Given the description of an element on the screen output the (x, y) to click on. 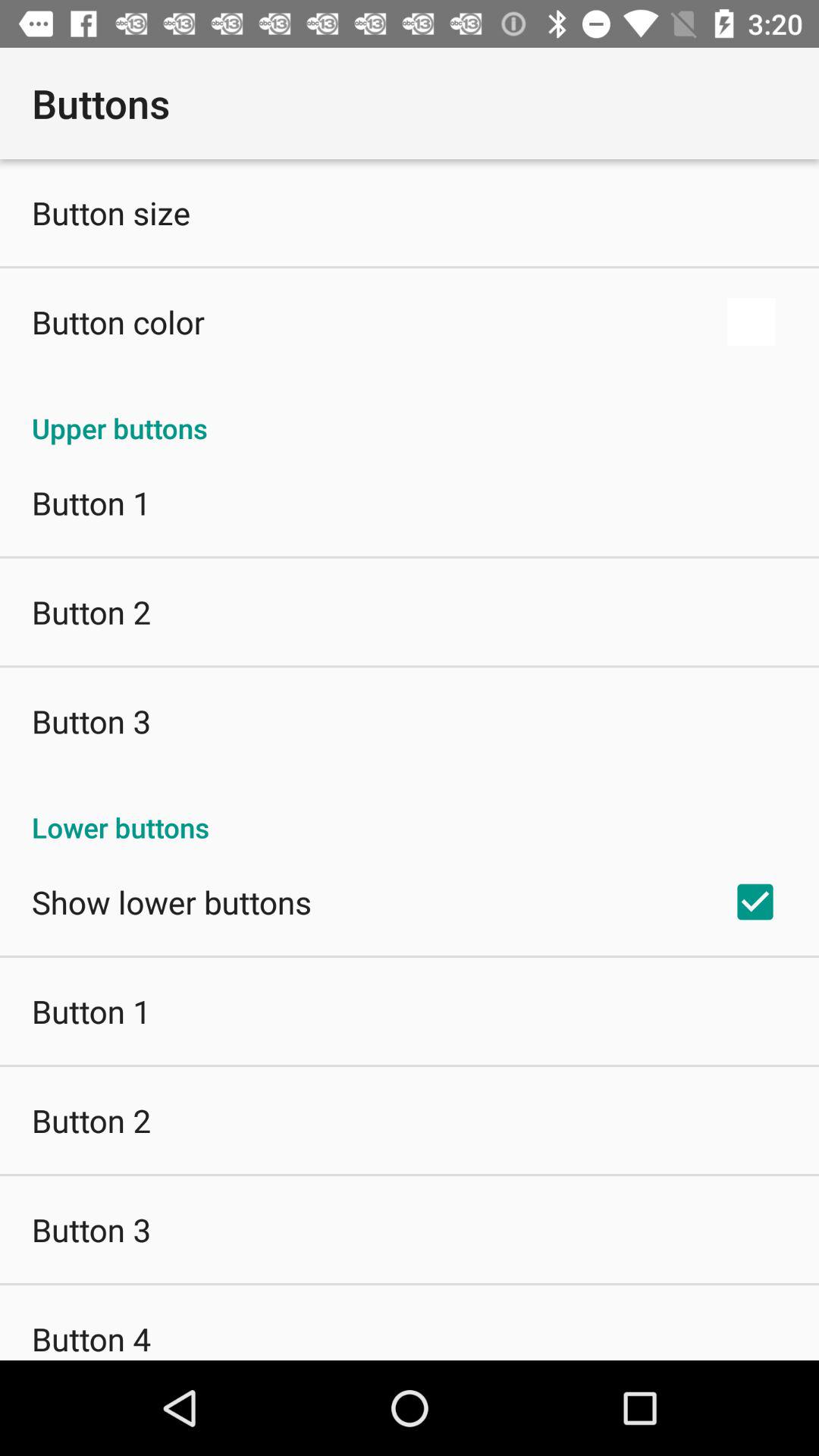
turn on icon above the button color icon (110, 212)
